Given the description of an element on the screen output the (x, y) to click on. 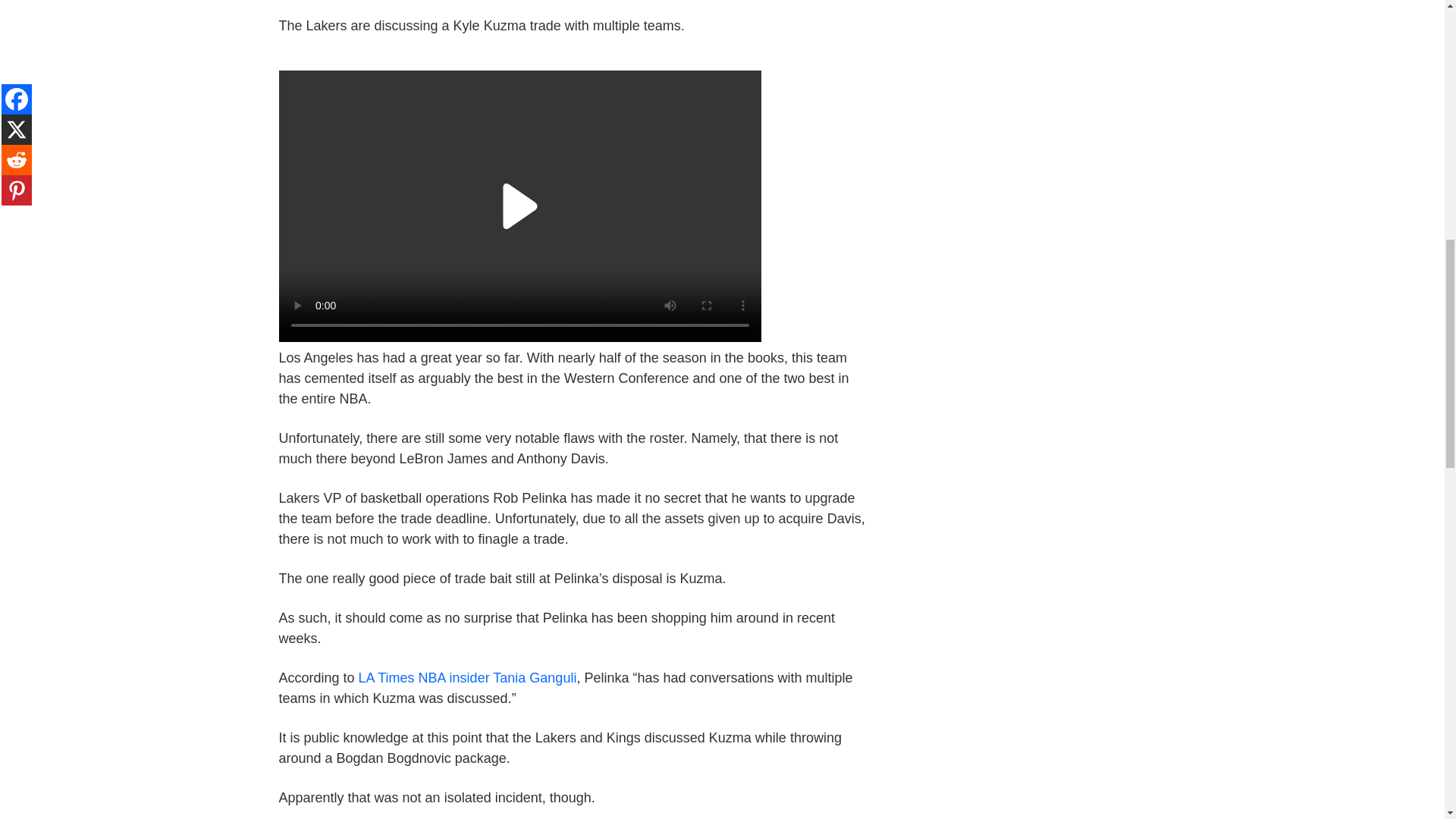
LA Times NBA insider Tania Ganguli (467, 677)
